Given the description of an element on the screen output the (x, y) to click on. 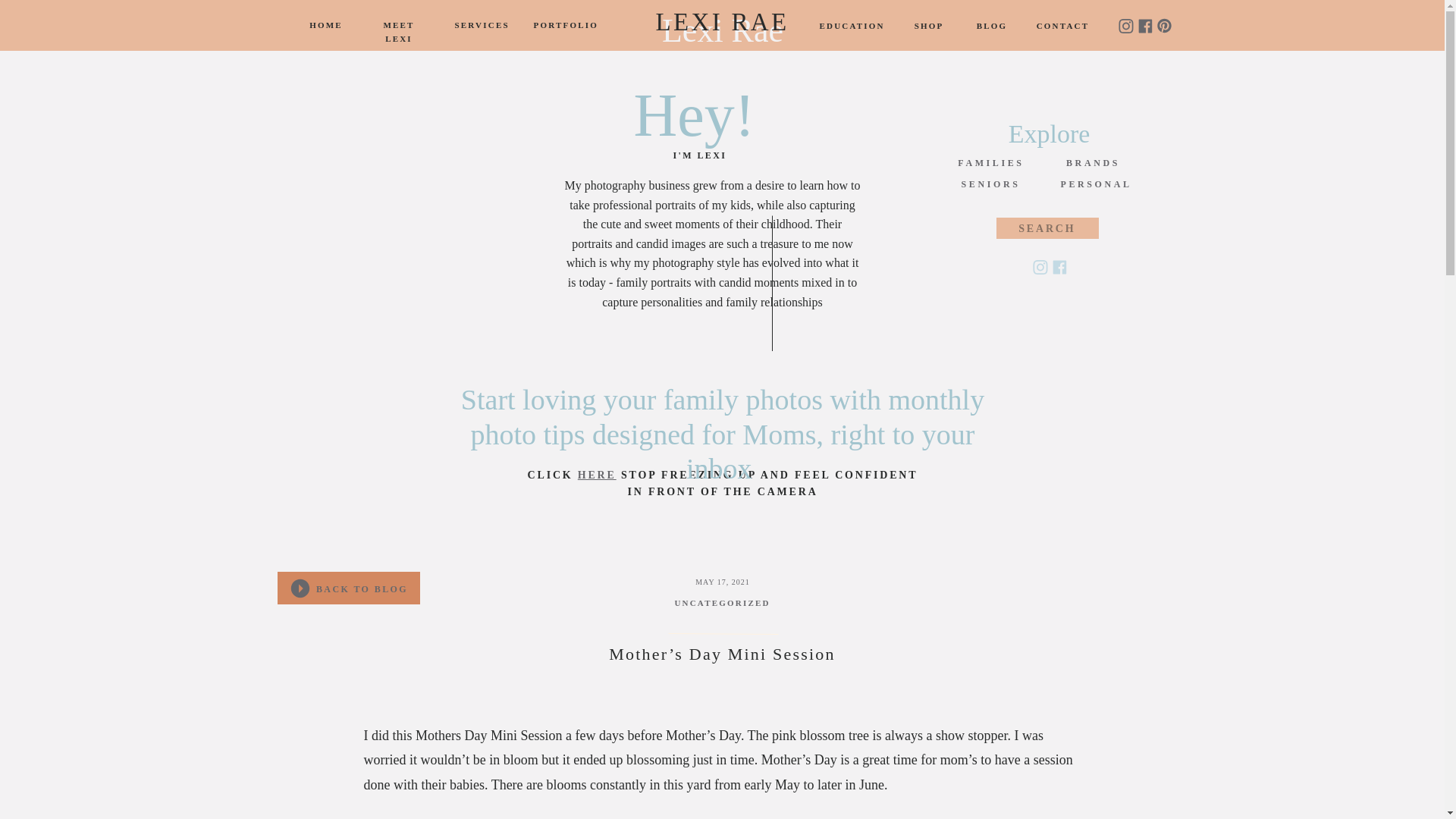
SERVICES (477, 24)
Instagram-color Created with Sketch. (1038, 267)
BLOG (991, 25)
UNCATEGORIZED (722, 602)
HOME (325, 24)
Facebook Copy-color Created with Sketch. (1144, 26)
Facebook Copy-color Created with Sketch. (1059, 267)
Facebook Copy-color Created with Sketch. (1059, 267)
MEET LEXI (398, 24)
HERE (596, 474)
EDUCATION (850, 25)
Facebook Copy-color Created with Sketch. (1144, 26)
Lexi Rae (721, 25)
Instagram-color Created with Sketch. (1126, 25)
Instagram-color Created with Sketch. (1038, 267)
